Given the description of an element on the screen output the (x, y) to click on. 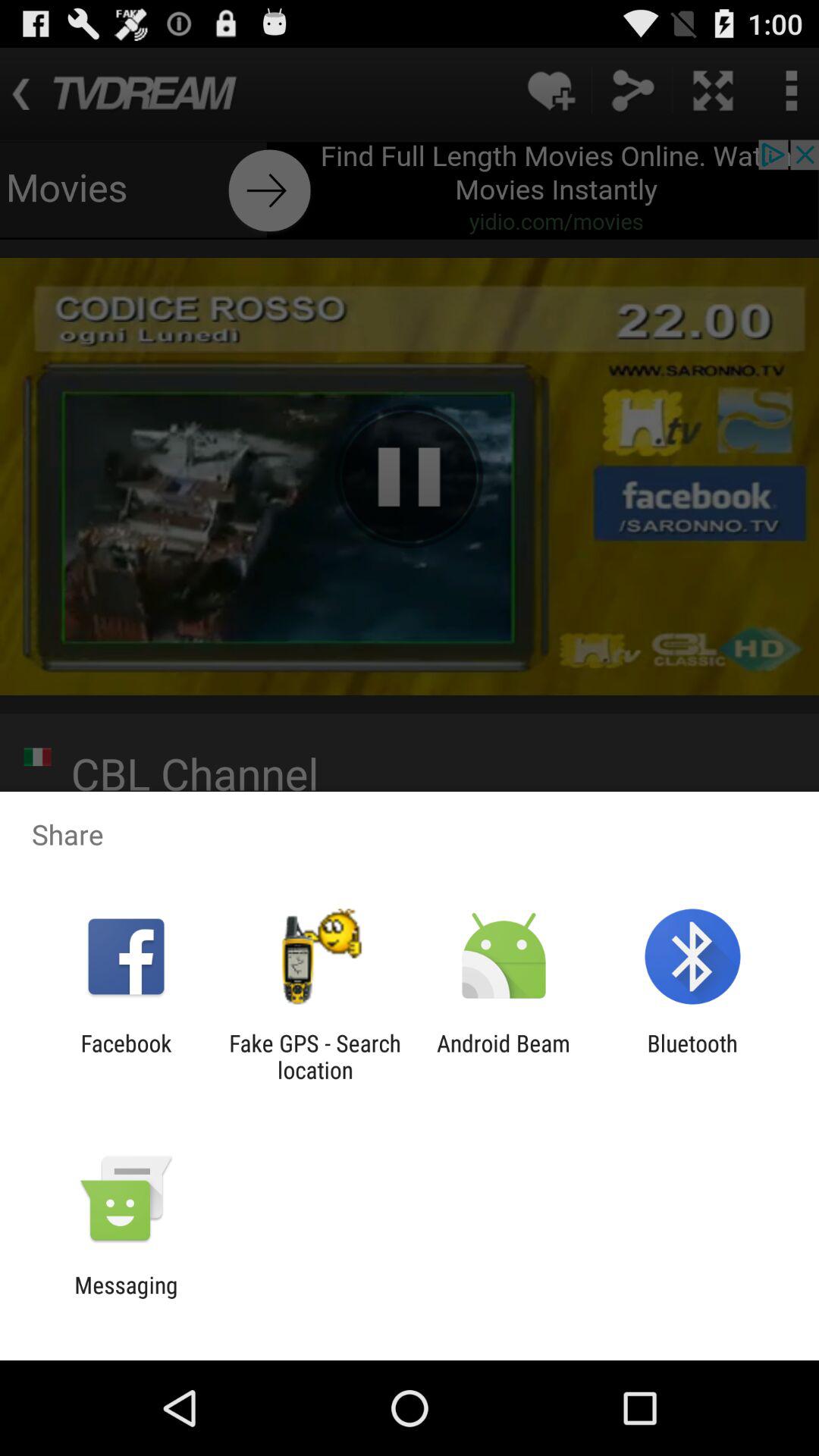
turn on the app at the bottom right corner (692, 1056)
